Given the description of an element on the screen output the (x, y) to click on. 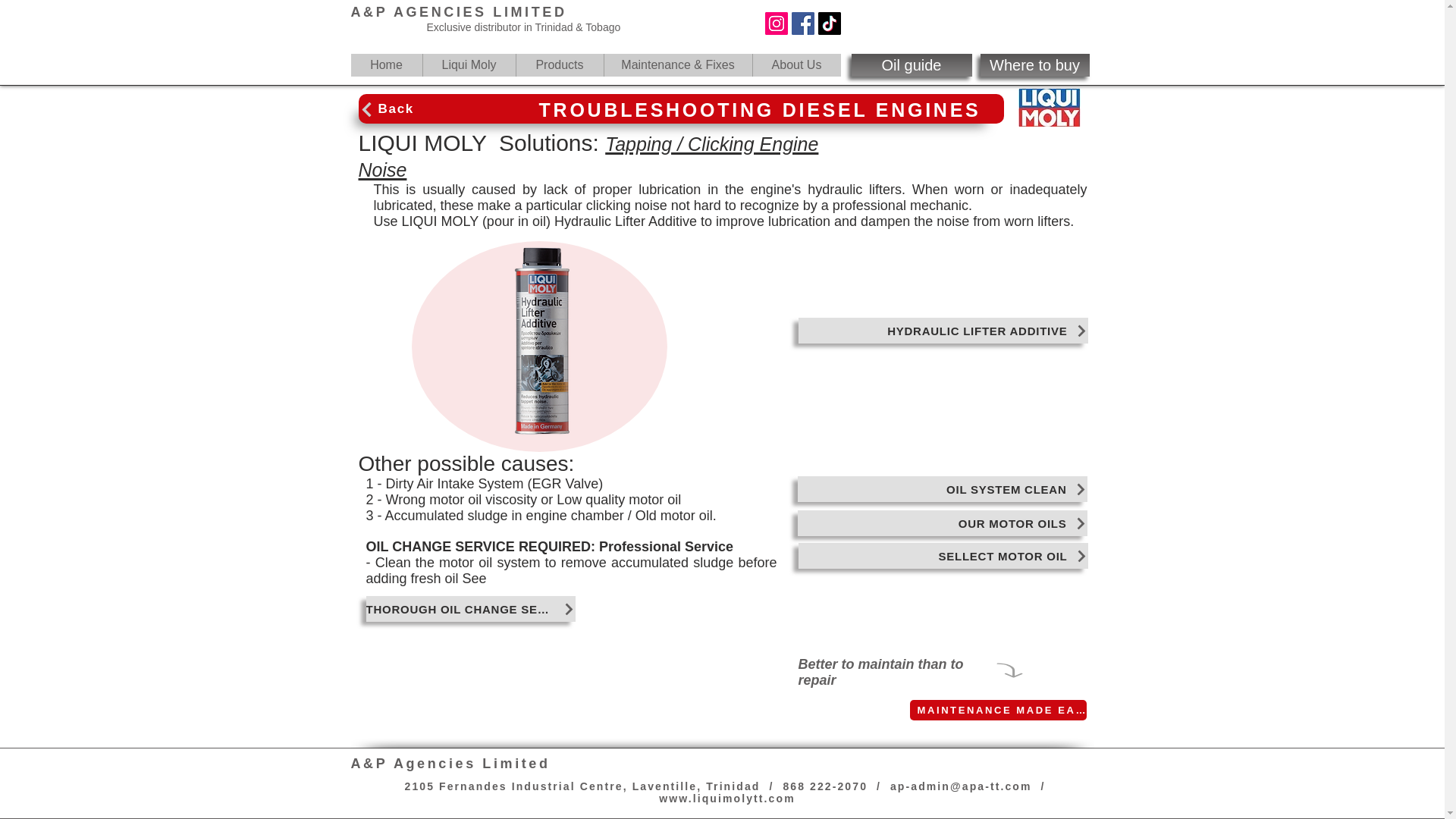
HYDRAULIC LIFTER ADDITIVE (942, 330)
Oil guide (910, 65)
OIL SYSTEM CLEAN (942, 488)
SELLECT MOTOR OIL (942, 555)
THOROUGH OIL CHANGE SERVICE (470, 608)
Where to buy (1034, 65)
Products (559, 65)
Back (423, 109)
About Us (796, 65)
Liqui Moly (468, 65)
